Given the description of an element on the screen output the (x, y) to click on. 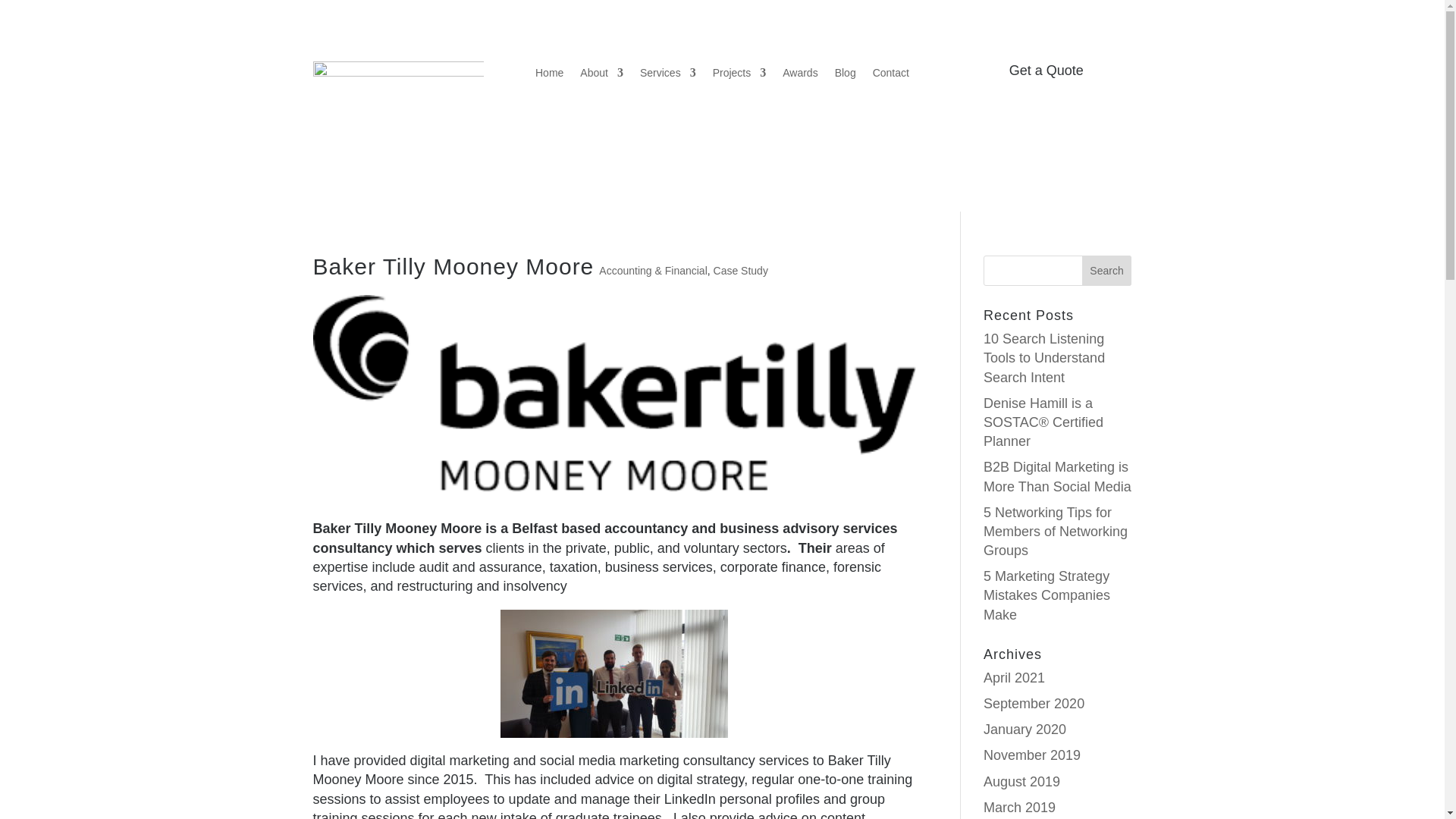
Blog (845, 75)
Digital-Den-Marketing-Logo (398, 105)
Awards (799, 75)
Services (667, 75)
Search (1106, 270)
About (601, 75)
Contact (890, 75)
Projects (740, 75)
Home (549, 75)
